Given the description of an element on the screen output the (x, y) to click on. 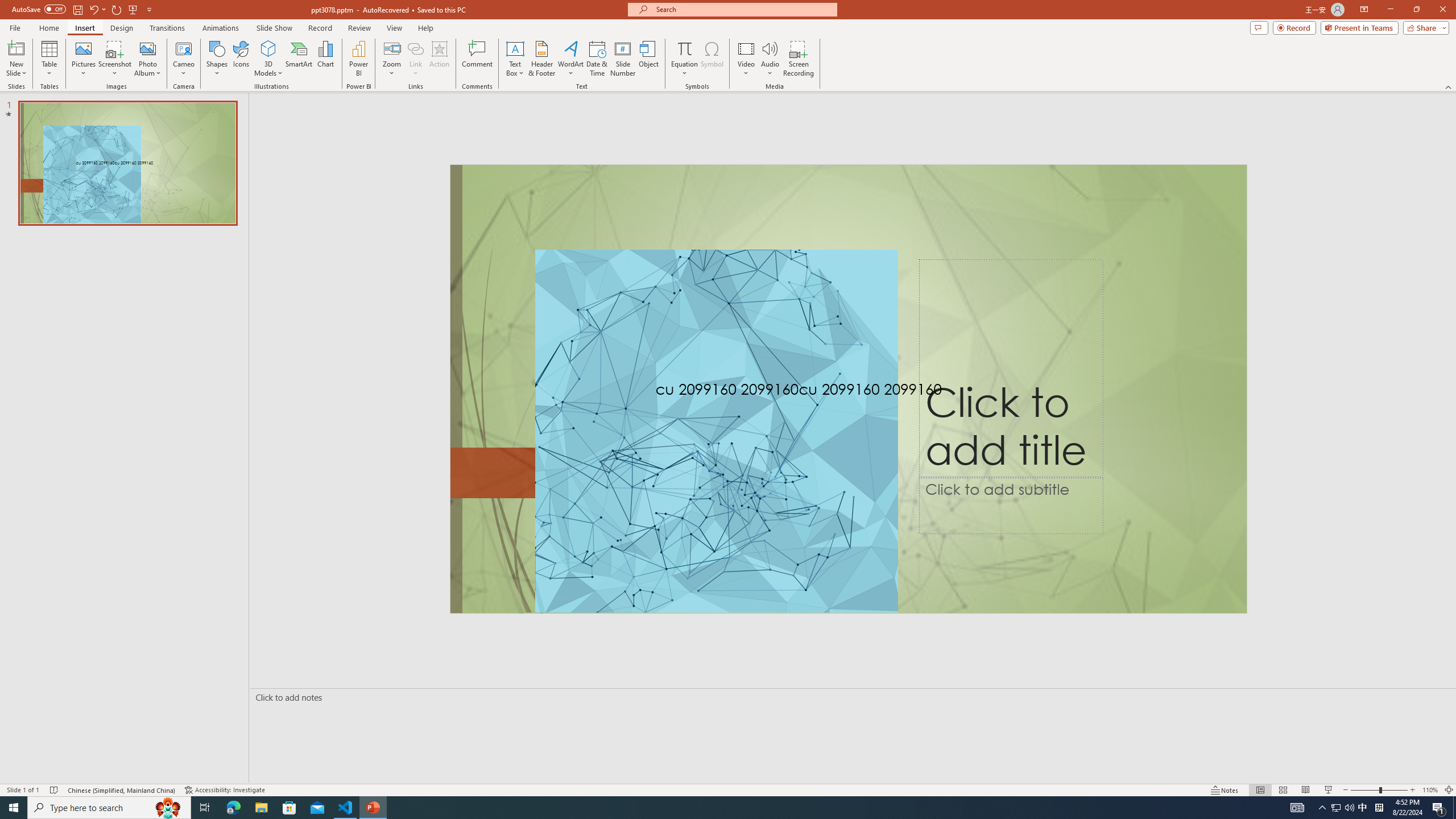
Slide Number (622, 58)
Action (439, 58)
Link (415, 48)
Comment (476, 58)
Equation (683, 58)
Pictures (83, 58)
Power BI (358, 58)
Draw Horizontal Text Box (515, 48)
SmartArt... (298, 58)
Zoom 110% (1430, 790)
